Given the description of an element on the screen output the (x, y) to click on. 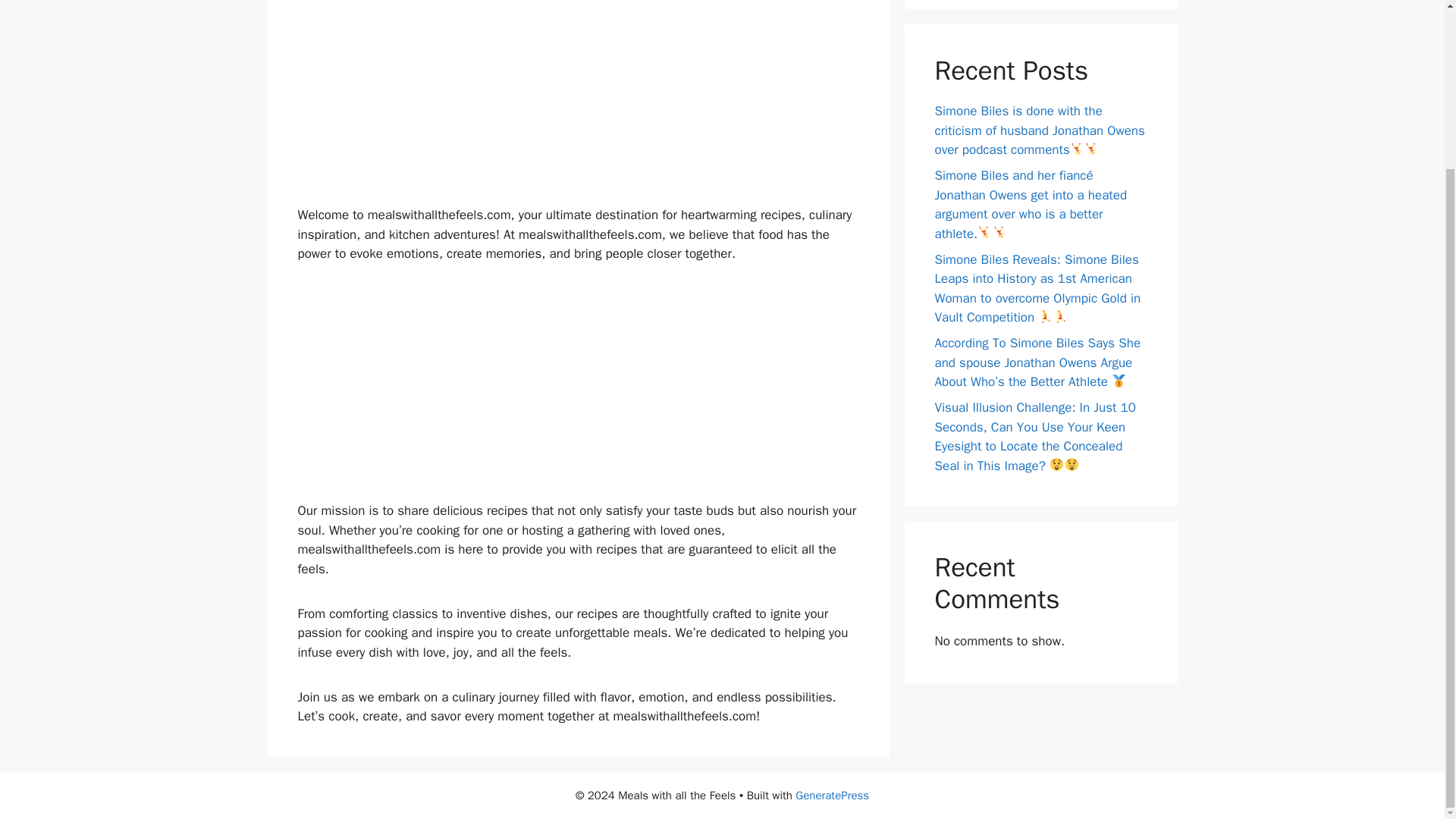
Advertisement (578, 388)
GeneratePress (831, 795)
Advertisement (578, 99)
